Given the description of an element on the screen output the (x, y) to click on. 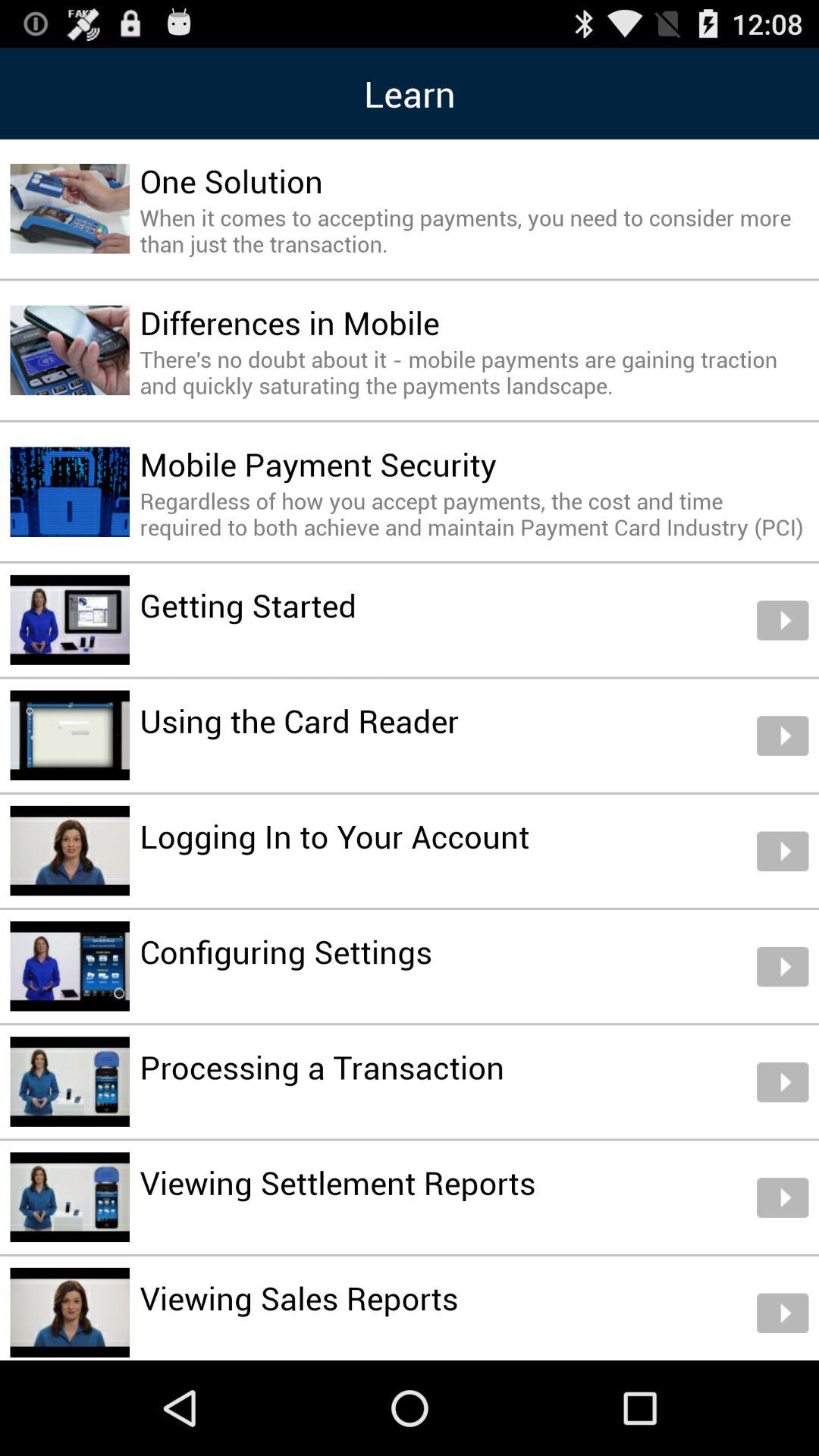
swipe until there s no item (473, 372)
